Given the description of an element on the screen output the (x, y) to click on. 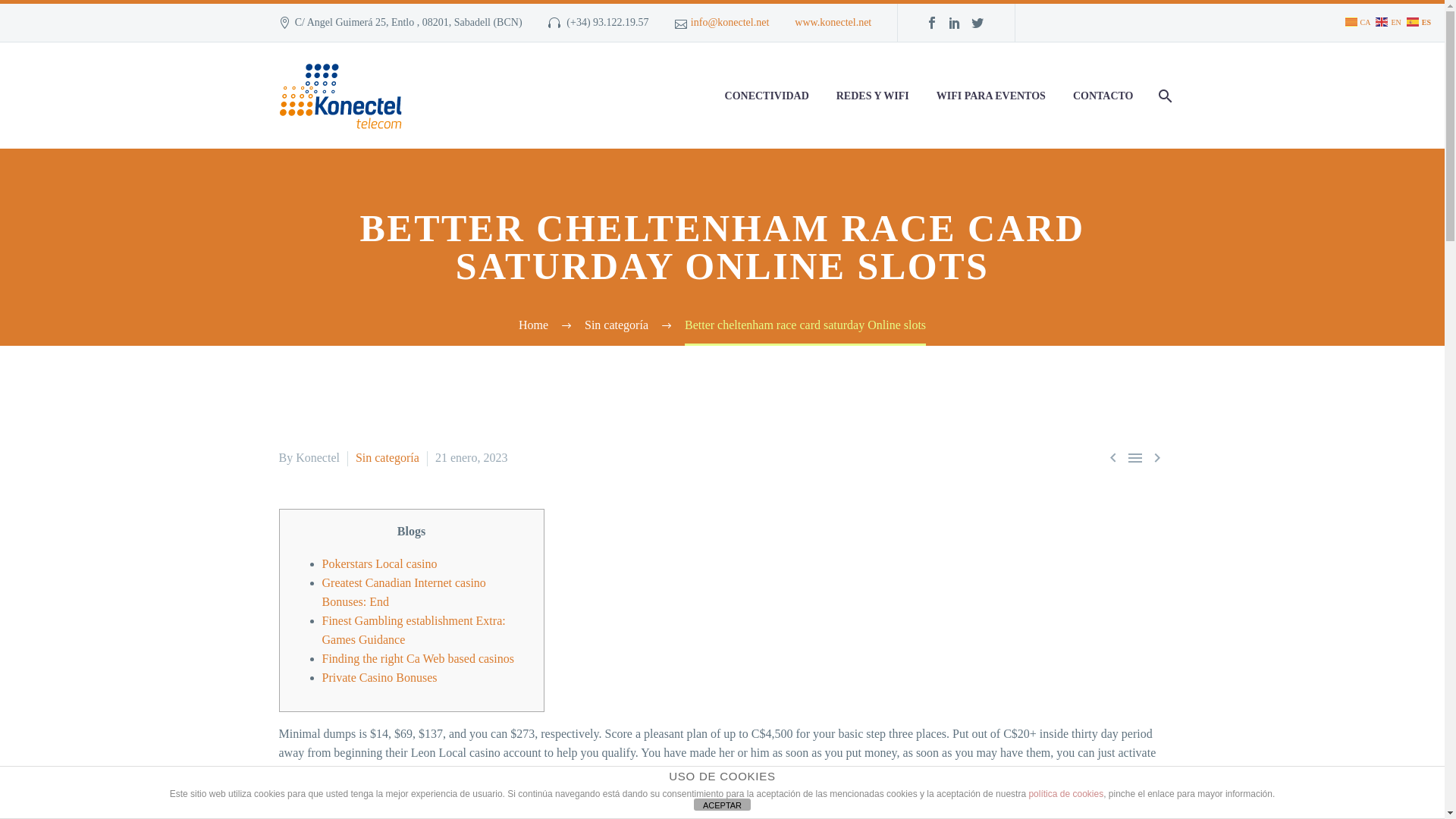
facebook (931, 22)
Finest Gambling establishment Extra: Games Guidance (413, 630)
CONECTIVIDAD (767, 95)
Private Casino Bonuses (378, 676)
Post Anterior (1112, 456)
CONTACTO (1102, 95)
WIFI PARA EVENTOS (990, 95)
Finding the right Ca Web based casinos (417, 658)
twitter (977, 22)
linkedin (954, 22)
Post Siguiente (1157, 456)
www.konectel.net (832, 21)
Greatest Canadian Internet casino Bonuses: End (402, 592)
Pokerstars Local casino (378, 563)
REDES Y WIFI (872, 95)
